Given the description of an element on the screen output the (x, y) to click on. 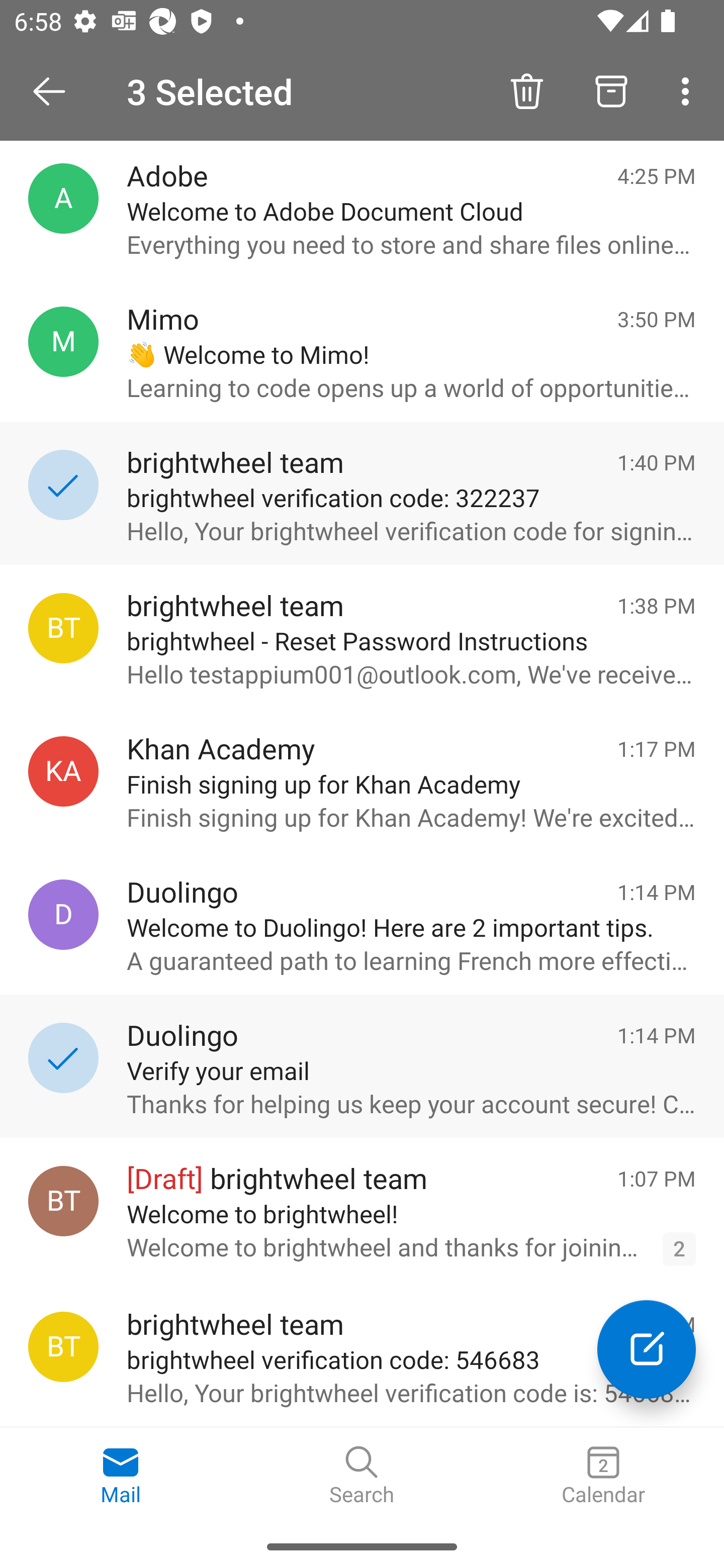
Delete (526, 90)
Archive (611, 90)
More options (688, 90)
Open Navigation Drawer (55, 91)
Adobe, message@adobe.com (63, 198)
Mimo, support@getmimo.com (63, 341)
brightwheel team, recovery@mybrightwheel.com (63, 627)
Khan Academy, no-reply@khanacademy.org (63, 770)
Duolingo, hello@duolingo.com (63, 914)
brightwheel team, welcome@mybrightwheel.com (63, 1200)
Compose (646, 1348)
brightwheel team, recovery@mybrightwheel.com (63, 1346)
Search (361, 1475)
Calendar (603, 1475)
